Given the description of an element on the screen output the (x, y) to click on. 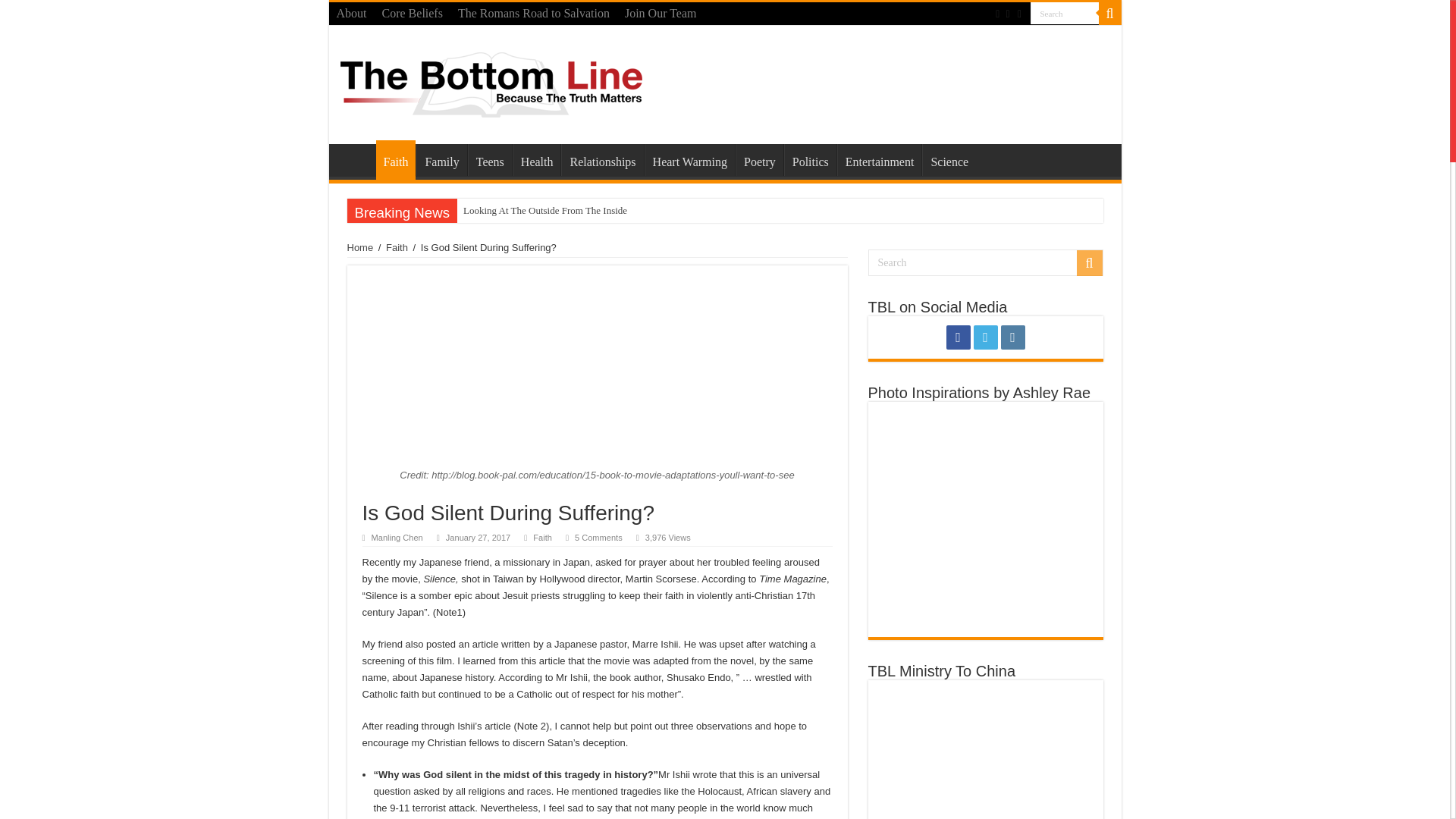
About (351, 13)
Faith (395, 159)
Science (948, 160)
Manling Chen (397, 537)
Search (1109, 13)
Looking At The Outside From The Inside (596, 210)
Teens (489, 160)
Home (355, 160)
The Bottom Line, Ministries (490, 81)
Home (360, 247)
